Given the description of an element on the screen output the (x, y) to click on. 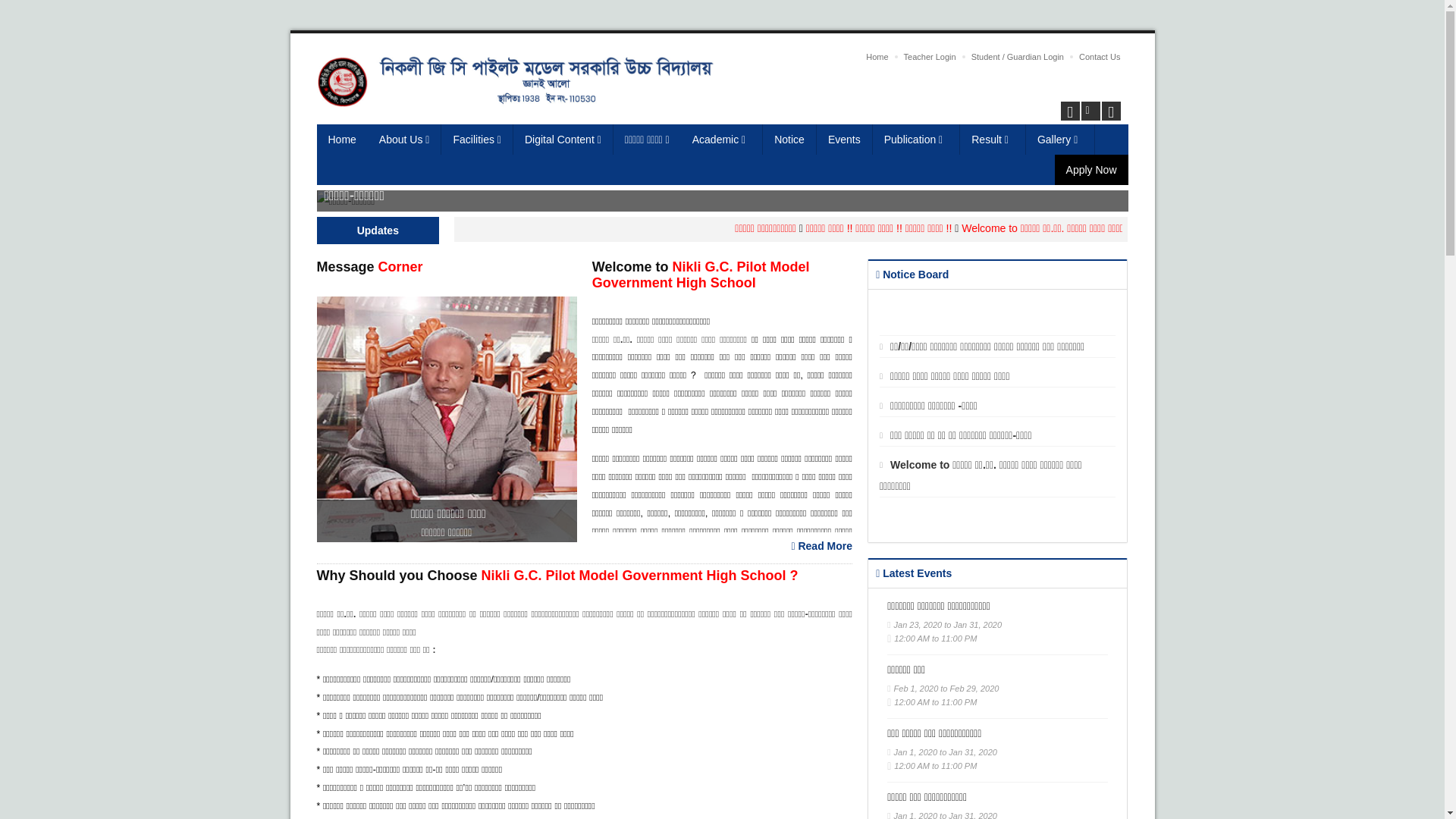
Notice Element type: text (789, 139)
Events Element type: text (844, 139)
Teacher Login Element type: text (929, 56)
Contact Us Element type: text (1099, 56)
Read More Element type: text (821, 545)
About Us Element type: text (404, 139)
Digital Content Element type: text (563, 139)
Student / Guardian Login Element type: text (1017, 56)
Home Element type: text (341, 139)
Publication Element type: text (916, 139)
Gallery Element type: text (1060, 139)
Result Element type: text (993, 139)
Apply Now Element type: text (1091, 169)
Facilities Element type: text (476, 139)
Academic Element type: text (721, 139)
Home Element type: text (876, 56)
